Given the description of an element on the screen output the (x, y) to click on. 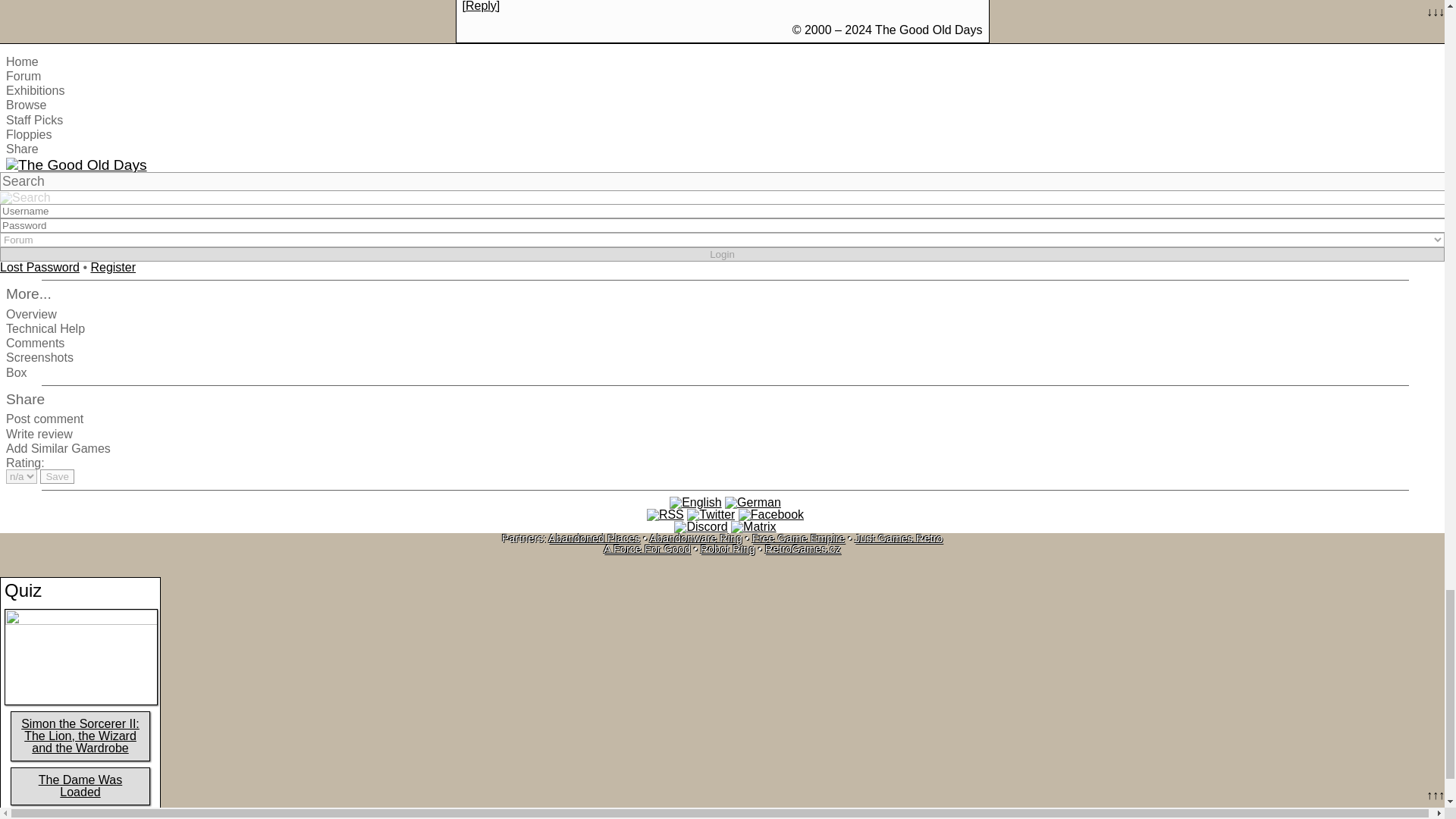
RSS (665, 514)
Discord (700, 526)
The Good Old Days (76, 164)
Save (57, 476)
Facebook (770, 514)
Forum (22, 75)
Home (22, 61)
Twitter (711, 514)
